Given the description of an element on the screen output the (x, y) to click on. 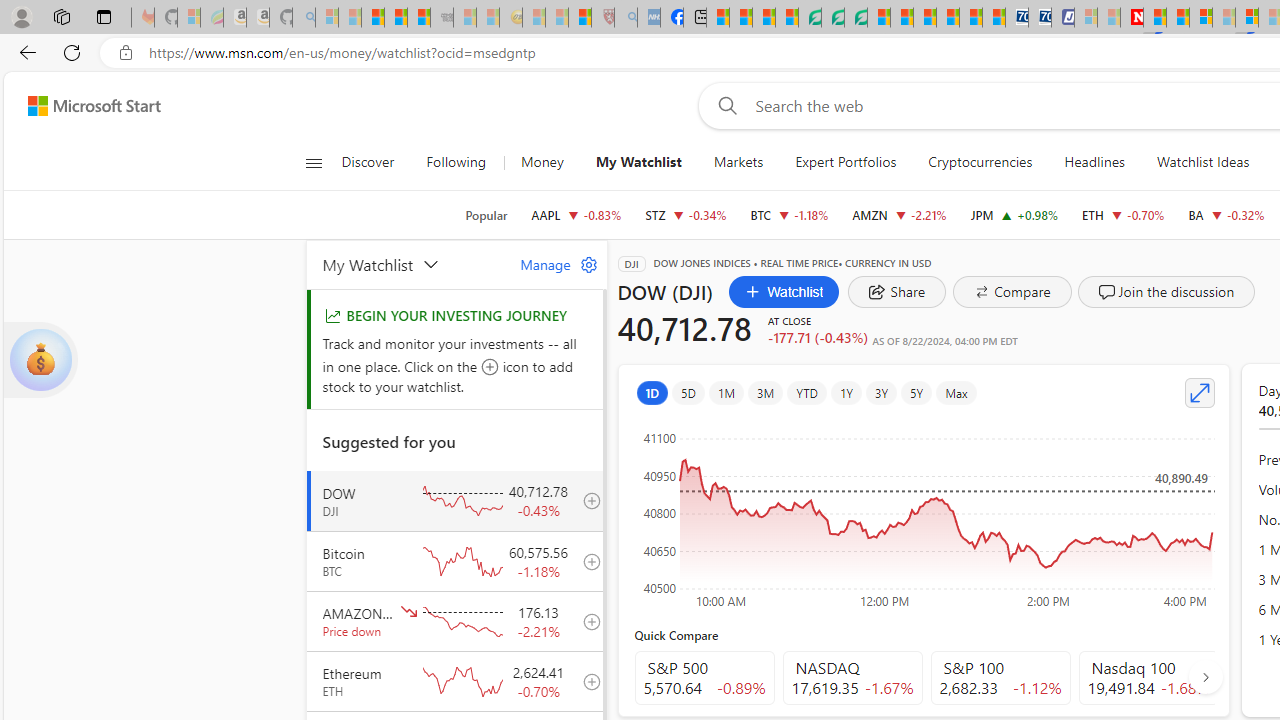
Local - MSN (580, 17)
JPM JPMORGAN CHASE & CO. increase 216.71 +2.11 +0.98% (1013, 214)
My Watchlist (409, 264)
The Weather Channel - MSN (372, 17)
share dialog (897, 291)
AutomationID: finance_carousel_navi_arrow (1205, 676)
Expert Portfolios (845, 162)
